Given the description of an element on the screen output the (x, y) to click on. 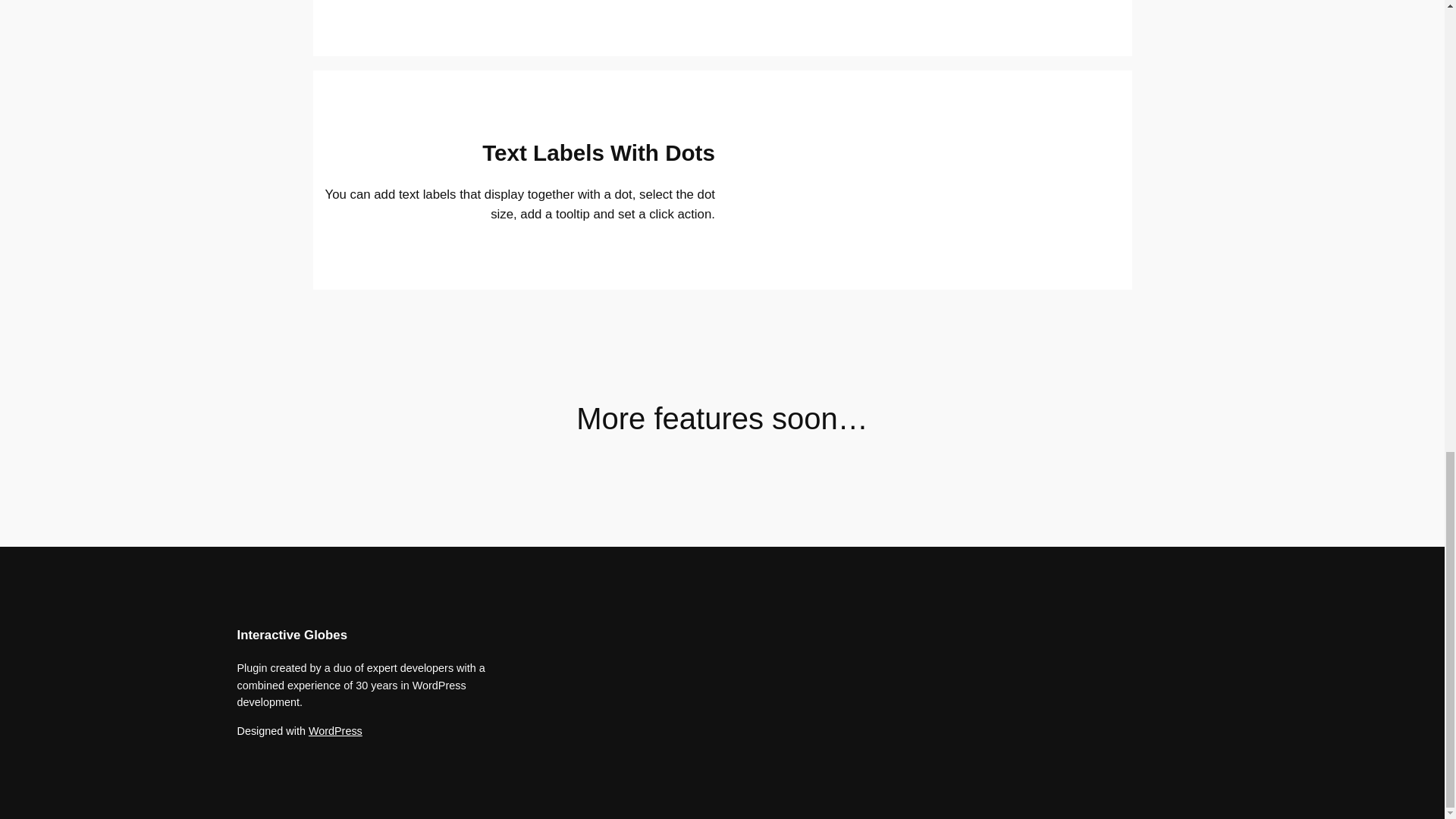
Interactive Globes (291, 635)
WordPress (335, 730)
